Given the description of an element on the screen output the (x, y) to click on. 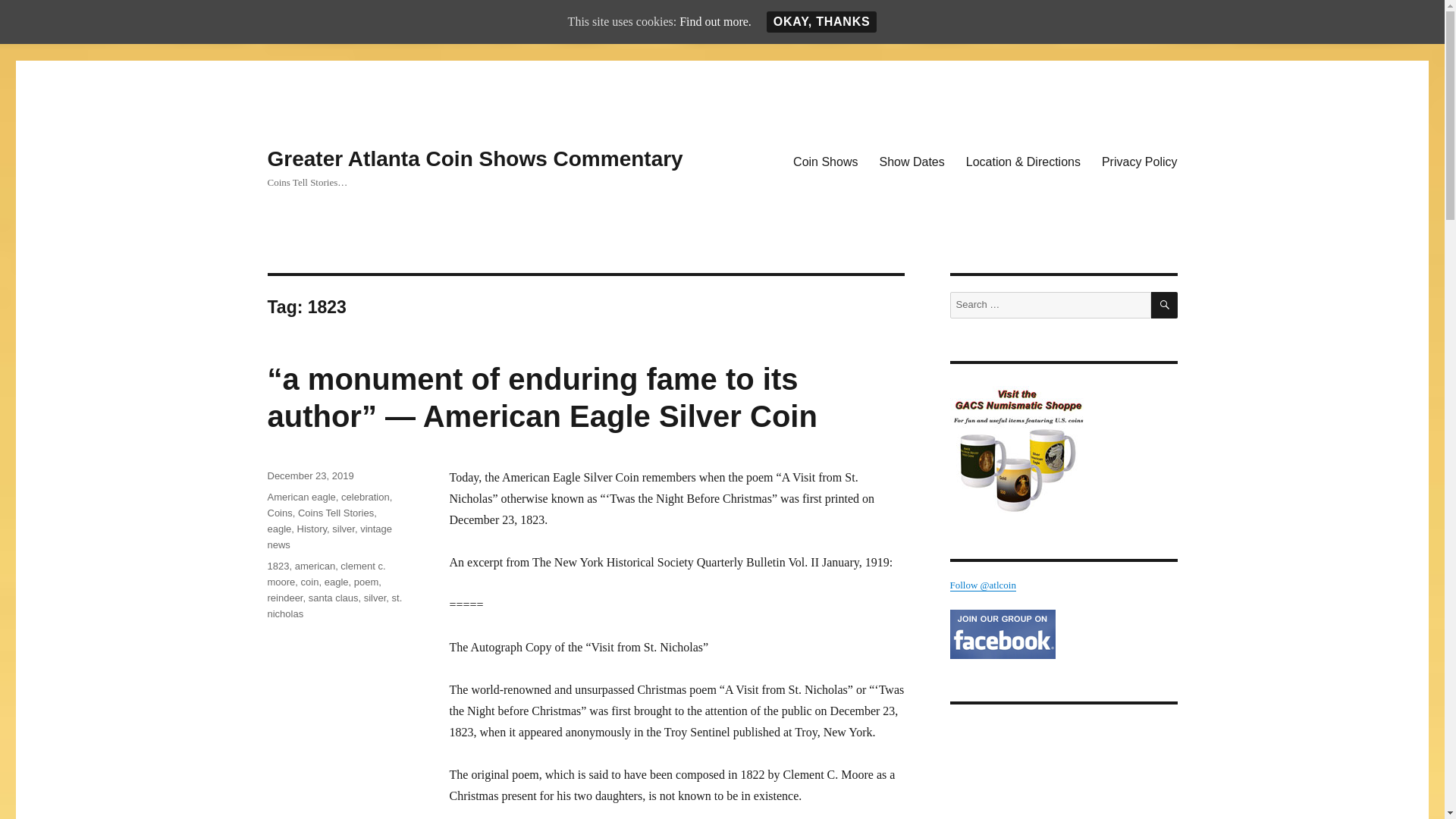
December 23, 2019 (309, 475)
reindeer (284, 597)
clement c. moore (325, 574)
silver (375, 597)
Show Dates (911, 161)
poem (365, 582)
History (311, 528)
vintage news (328, 536)
coin (309, 582)
Visit the GACS Numismatic Shoppe (1062, 448)
american (314, 565)
Coins Tell Stories (336, 512)
santa claus (333, 597)
eagle (336, 582)
SEARCH (1164, 304)
